Given the description of an element on the screen output the (x, y) to click on. 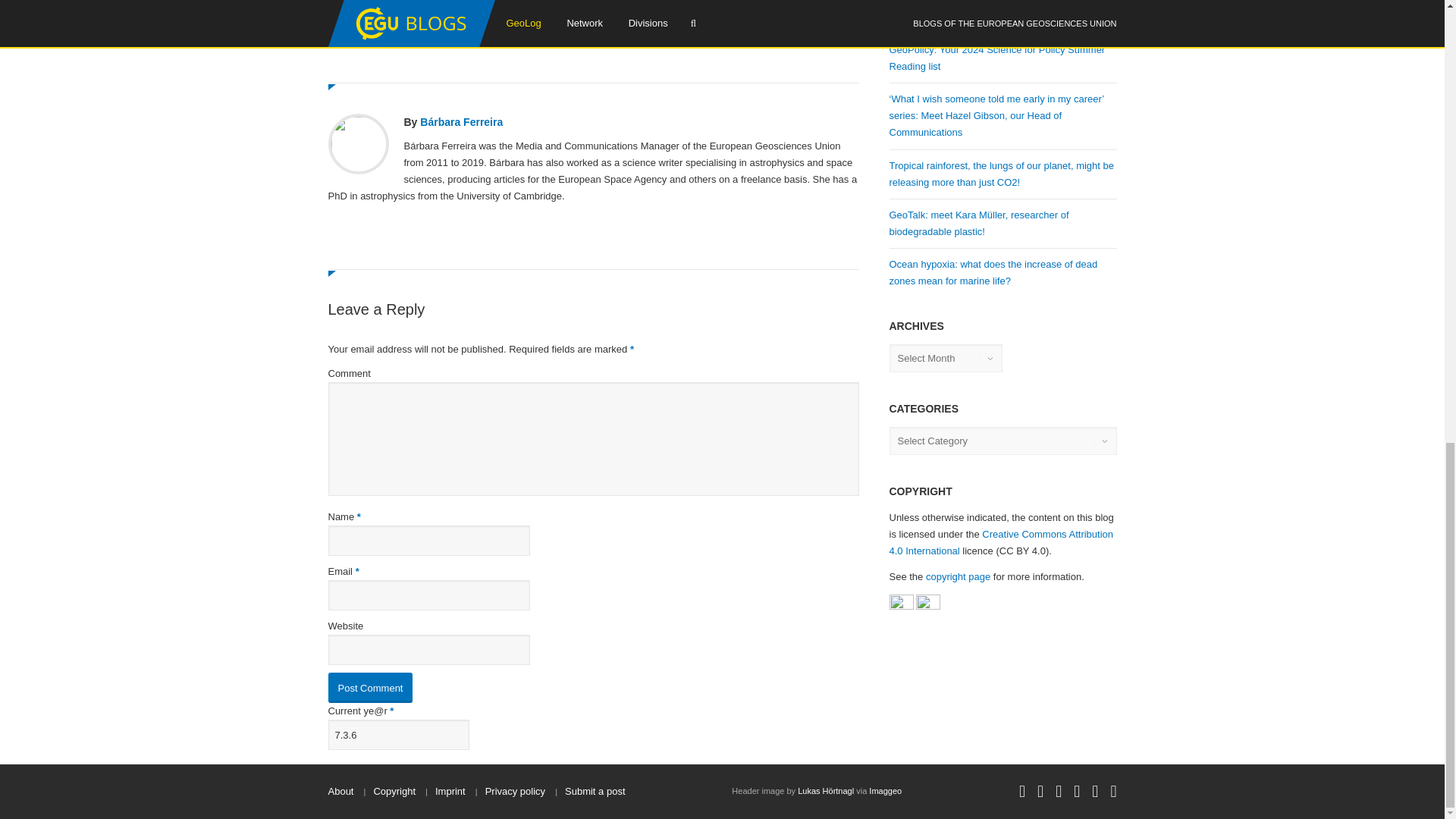
7.3.6 (397, 734)
Post Comment (369, 687)
